Given the description of an element on the screen output the (x, y) to click on. 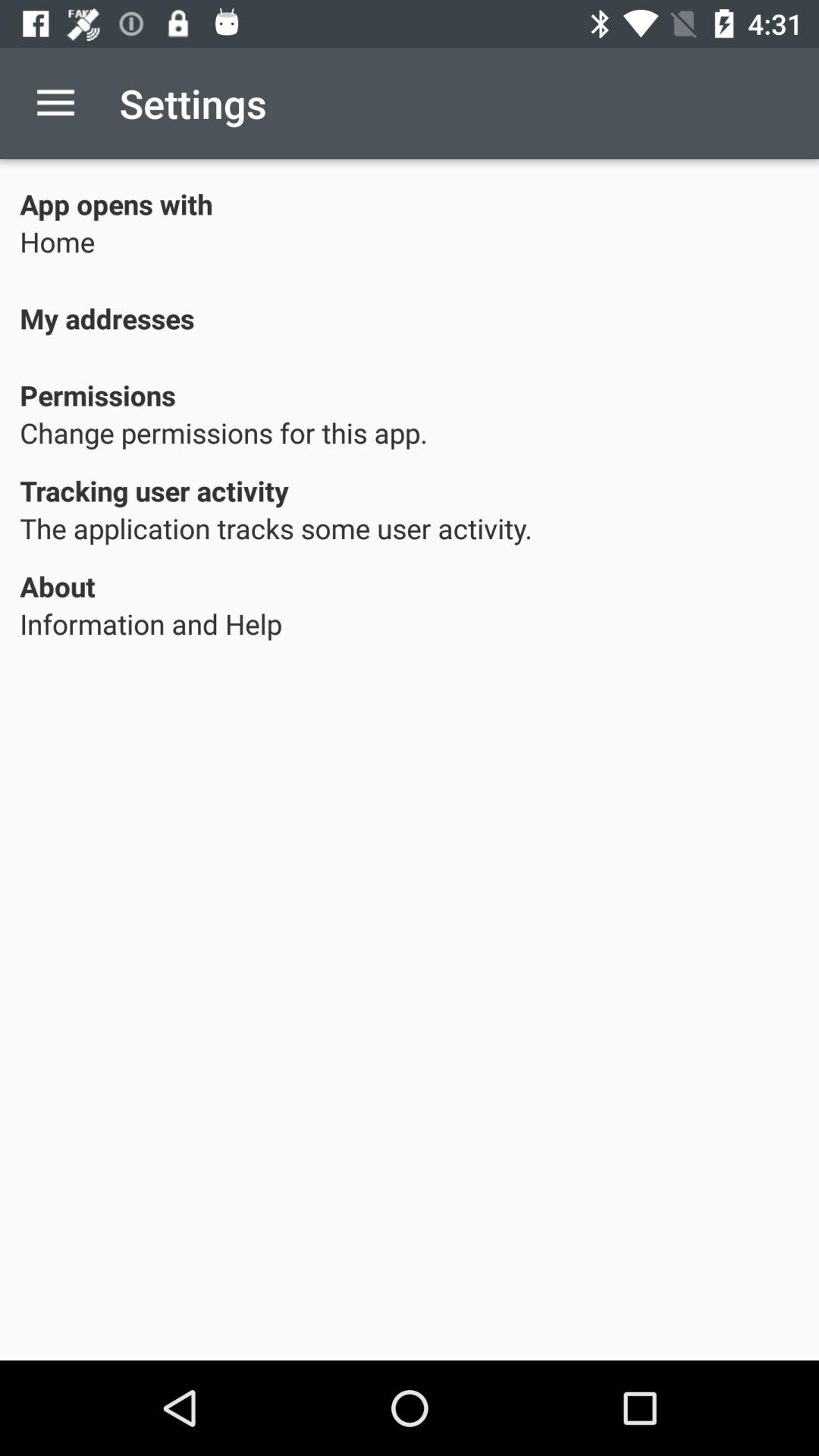
turn on the icon to the left of settings item (55, 103)
